Given the description of an element on the screen output the (x, y) to click on. 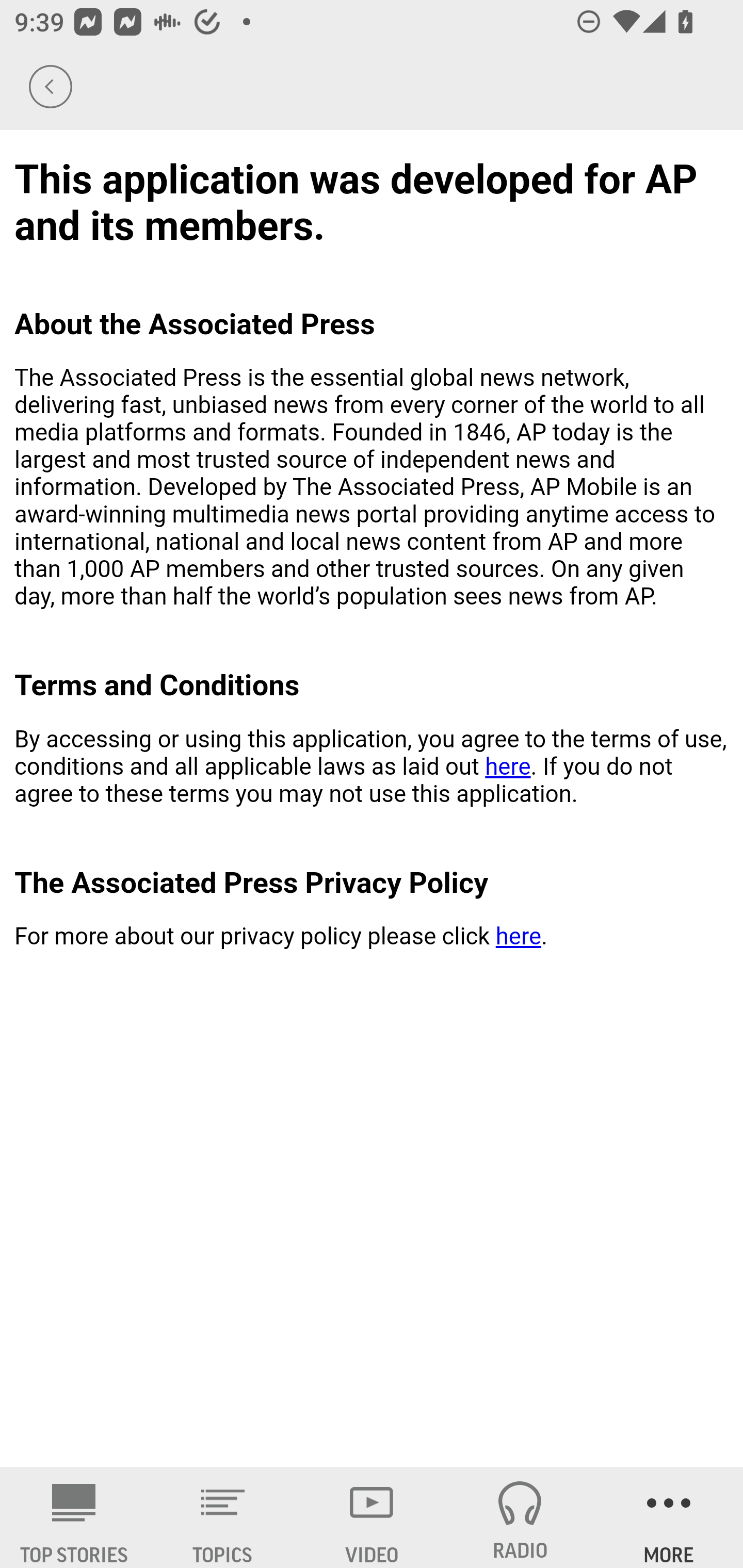
here (507, 766)
here (517, 936)
AP News TOP STORIES (74, 1517)
TOPICS (222, 1517)
VIDEO (371, 1517)
RADIO (519, 1517)
MORE (668, 1517)
